Given the description of an element on the screen output the (x, y) to click on. 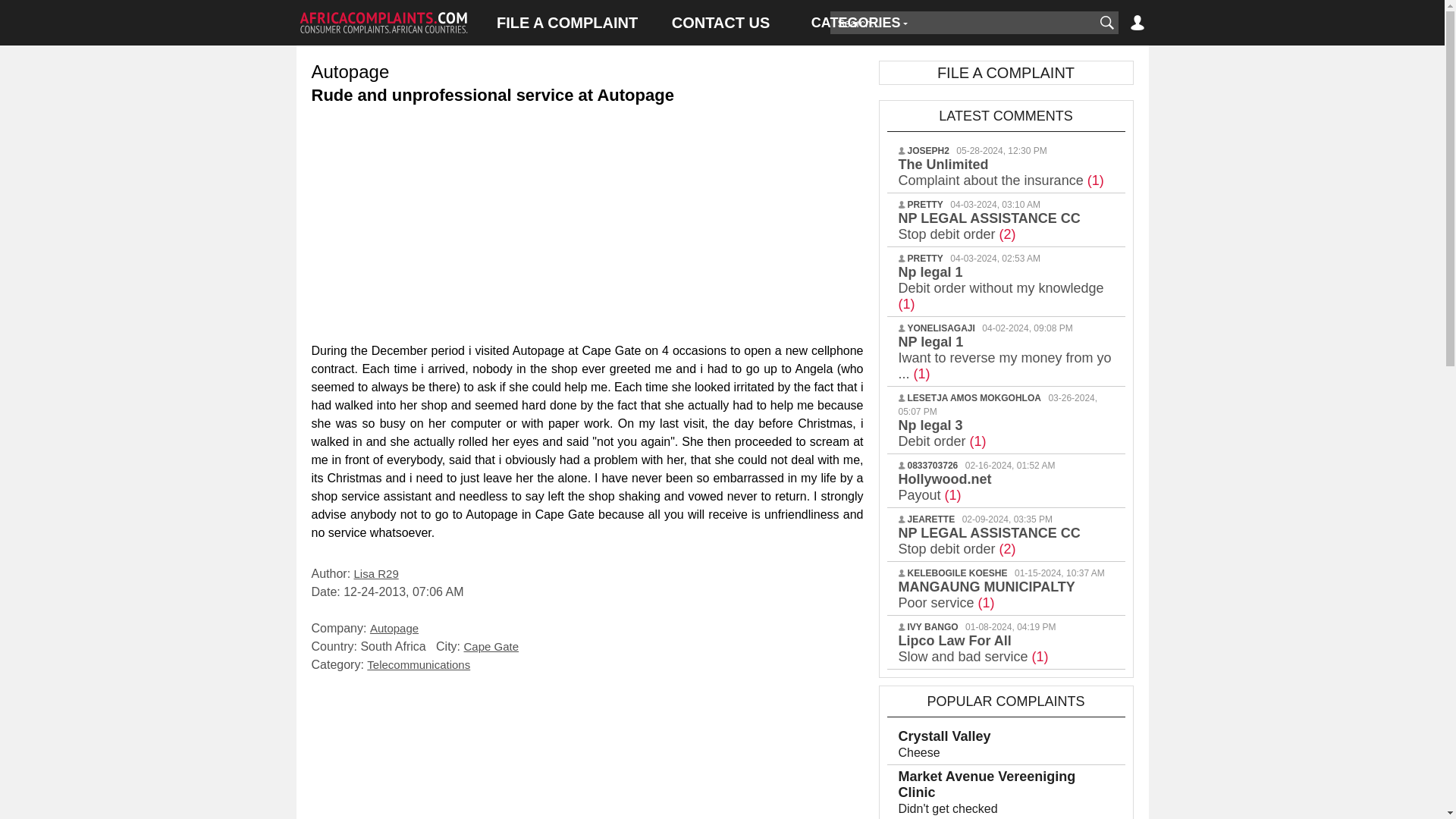
NP LEGAL ASSISTANCE CC - Stop debit order (989, 540)
The Unlimited - Complaint about the insurance (1000, 172)
Find (1106, 22)
Advertisement (587, 220)
FILE A COMPLAINT (566, 22)
Hollywood.net - Payout (944, 486)
Np legal 3 - Debit order (941, 432)
Lipco Law For All - Slow and bad service (973, 648)
Advertisement (587, 750)
Np legal 1 - Debit order without my knowledge (1000, 288)
NP LEGAL ASSISTANCE CC - Stop debit order (989, 225)
MANGAUNG MUNICIPALTY - Poor service (986, 594)
